Given the description of an element on the screen output the (x, y) to click on. 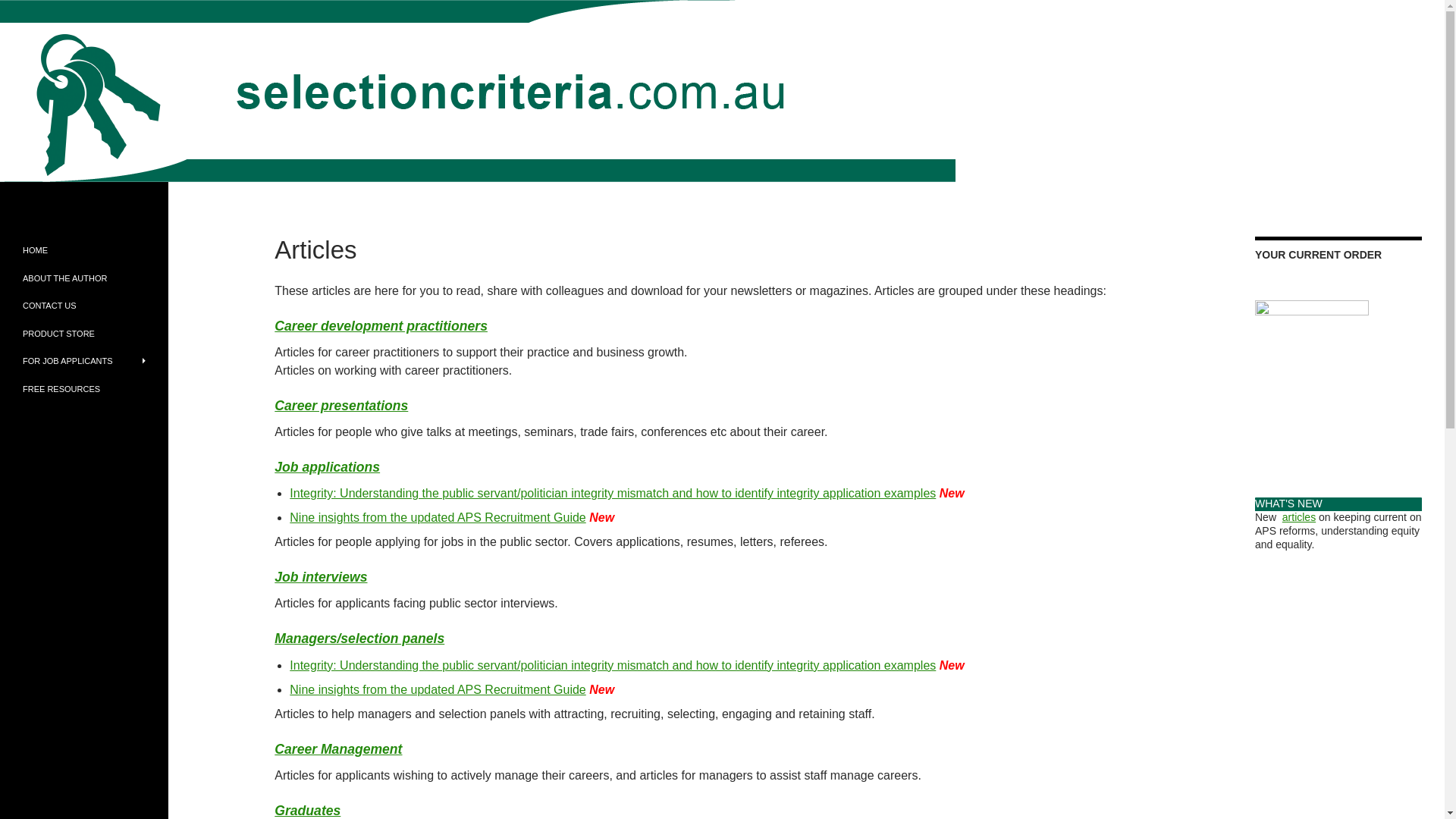
ABOUT THE AUTHOR (84, 277)
HOME (84, 250)
CONTACT US (84, 305)
Job applications (327, 467)
Nine insights from the updated APS Recruitment Guide (437, 517)
PRODUCT STORE (84, 334)
Job interviews (320, 576)
Career Management (338, 749)
articles (1299, 517)
Nine insights from the updated APS Recruitment Guide (437, 689)
